Given the description of an element on the screen output the (x, y) to click on. 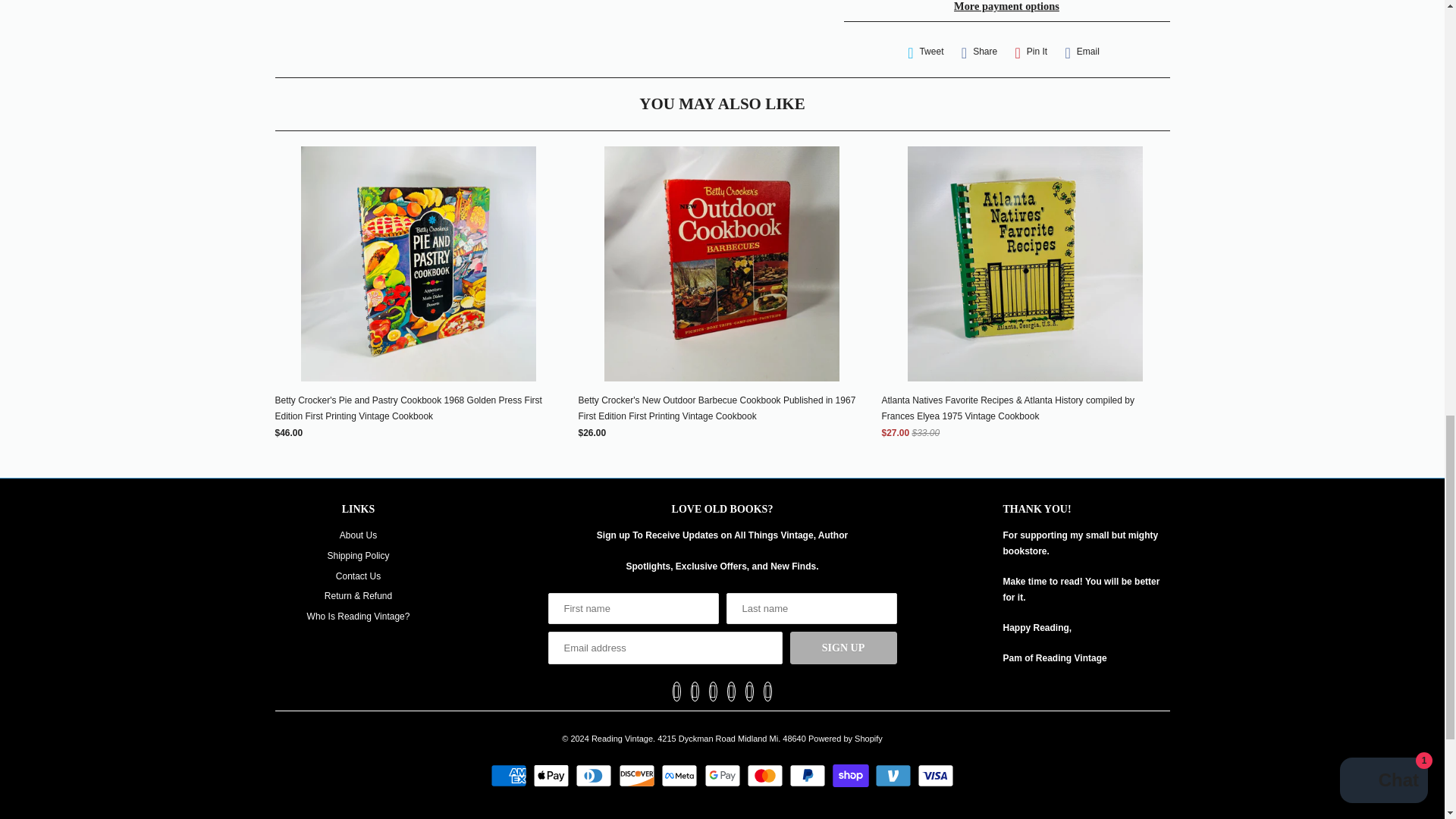
Discover (638, 775)
Venmo (895, 775)
Share this on Pinterest (1030, 51)
Shop Pay (852, 775)
Share this on Facebook (978, 51)
Diners Club (595, 775)
Apple Pay (552, 775)
Sign Up (843, 647)
Mastercard (766, 775)
American Express (510, 775)
Email this to a friend (1082, 51)
PayPal (809, 775)
Share this on Twitter (924, 51)
Visa (935, 775)
Google Pay (723, 775)
